Given the description of an element on the screen output the (x, y) to click on. 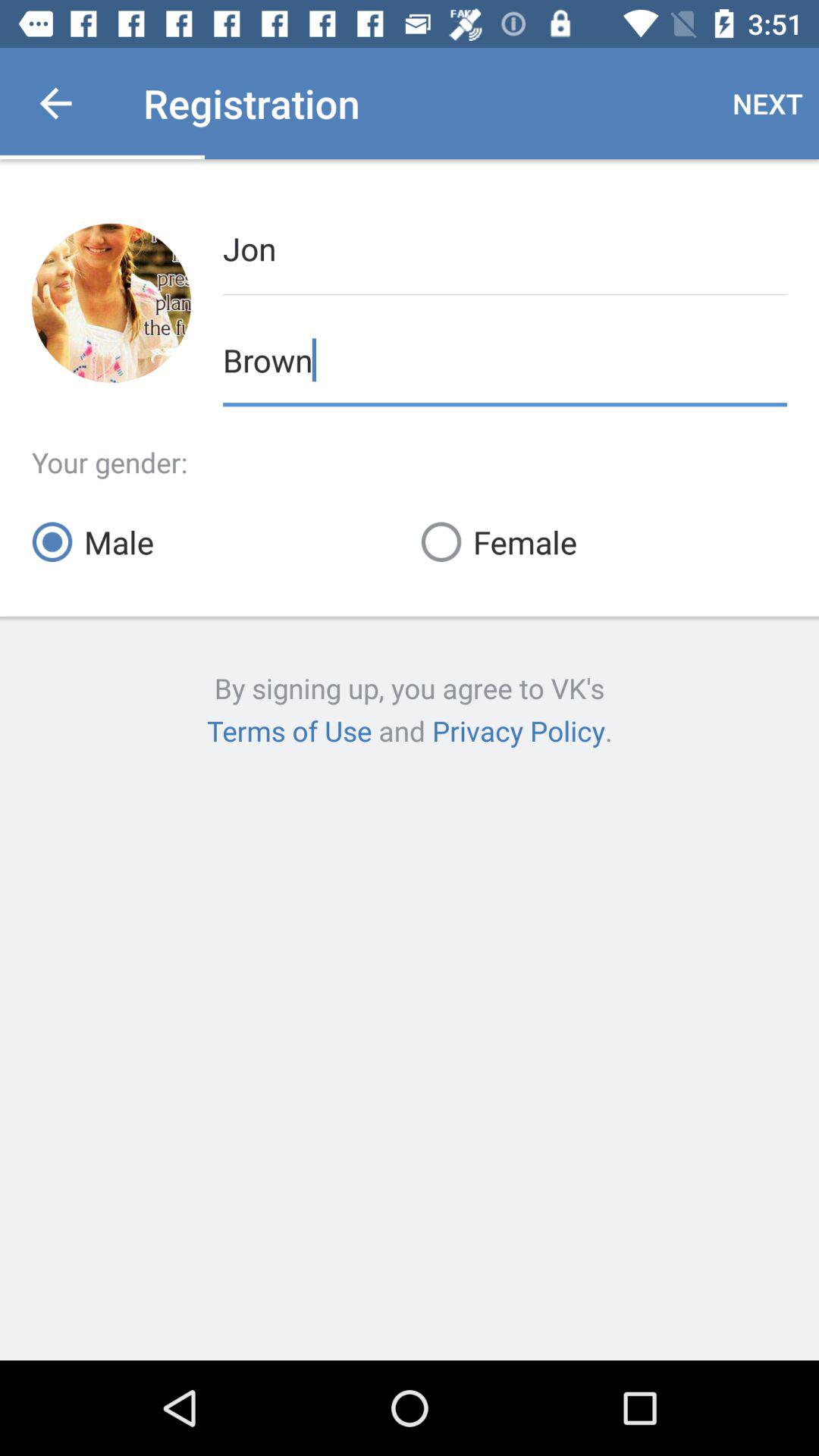
swipe to the next icon (767, 103)
